Given the description of an element on the screen output the (x, y) to click on. 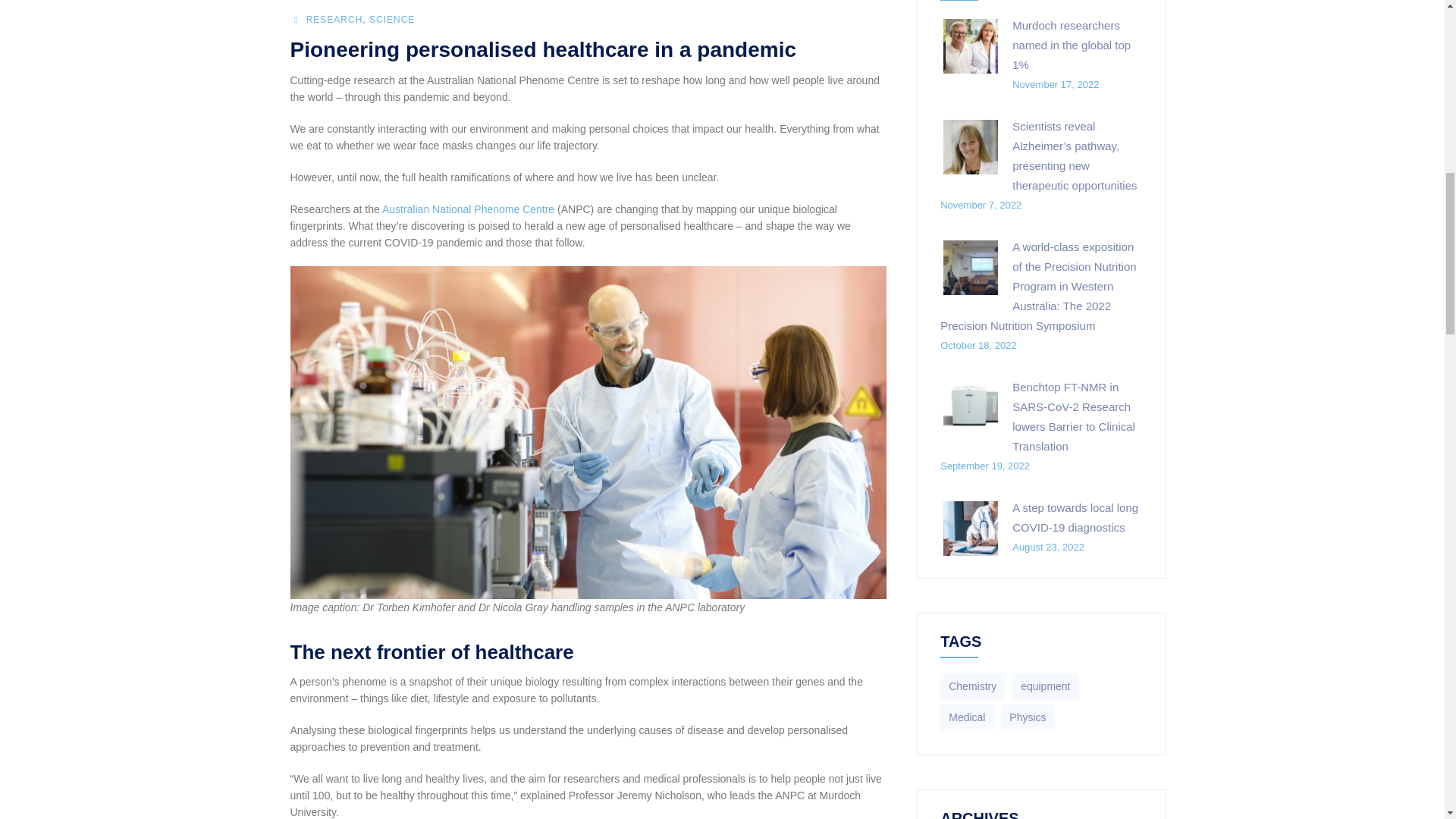
Australian National Phenome Centre (467, 209)
RESEARCH (333, 19)
Medical (966, 717)
A step towards local long COVID-19 diagnostics (1074, 517)
SCIENCE (391, 19)
Chemistry (972, 686)
equipment (1044, 686)
Physics (1027, 717)
